Given the description of an element on the screen output the (x, y) to click on. 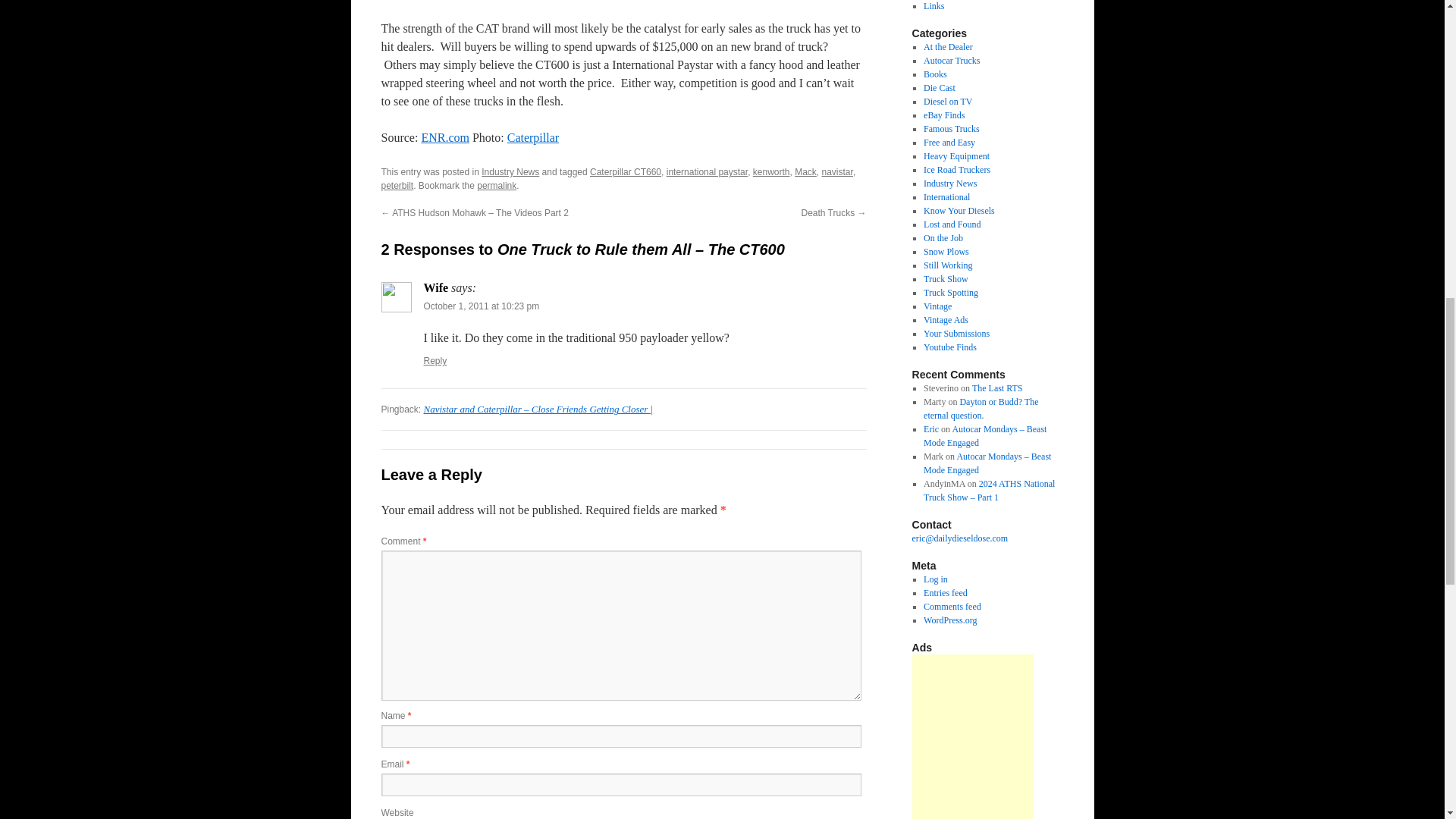
permalink (496, 185)
international paystar (707, 172)
Industry News (509, 172)
October 1, 2011 at 10:23 pm (480, 306)
peterbilt (396, 185)
Mack (805, 172)
ENR.com (444, 137)
Reply (434, 360)
Caterpillar (532, 137)
kenworth (771, 172)
navistar (837, 172)
Caterpillar CT660 (625, 172)
